Given the description of an element on the screen output the (x, y) to click on. 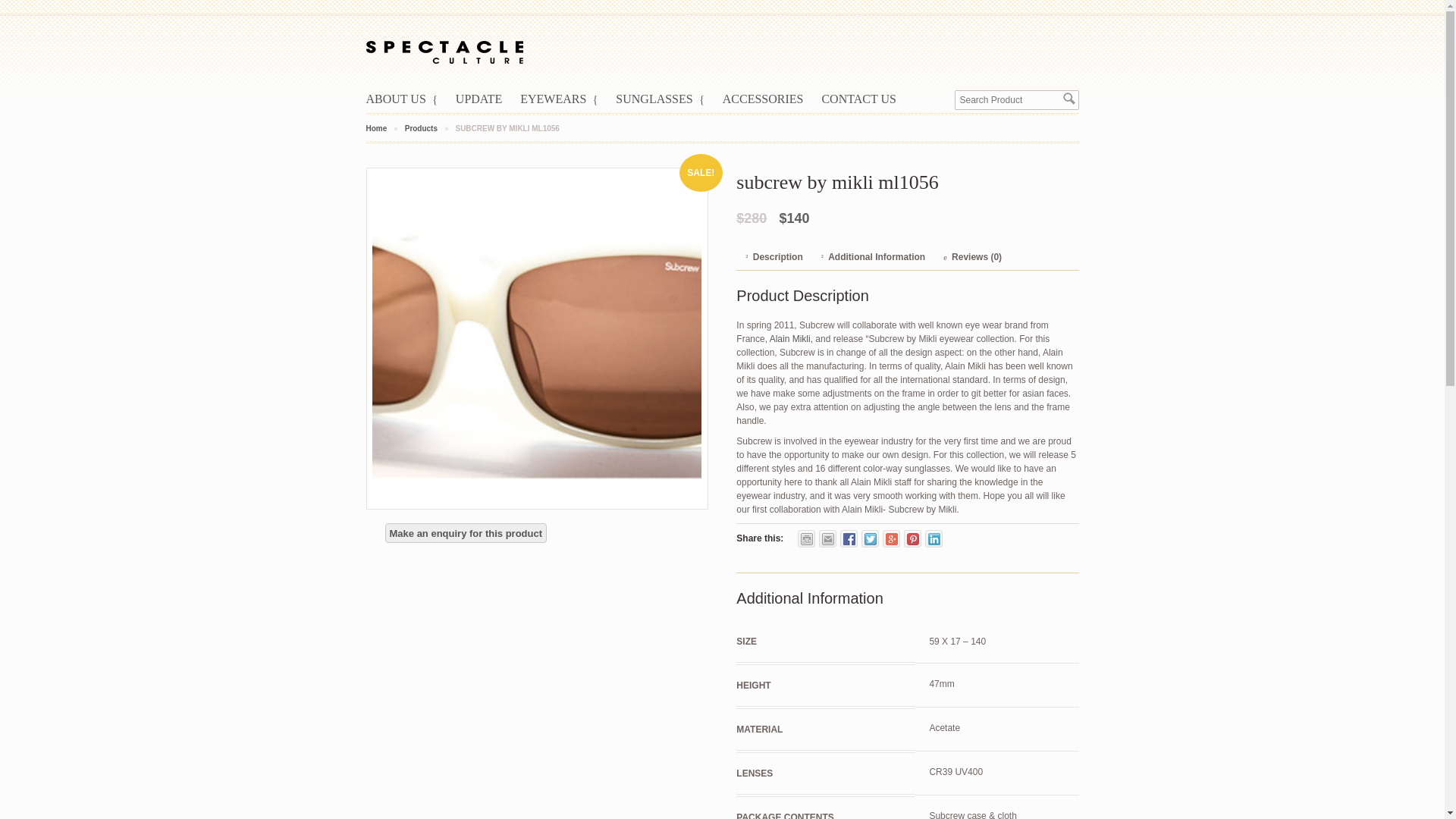
UPDATE (487, 98)
Click to share on LinkedIn (933, 538)
Make an enquiry for this product (466, 532)
Additional Information (873, 257)
Home (376, 128)
ACCESSORIES (772, 98)
Description (773, 257)
Products (421, 128)
Click to email this to a friend (826, 538)
Alain Mikli (790, 338)
Click to share on Pinterest (912, 538)
EYEWEARS (567, 99)
Click to share on Twitter (870, 538)
Products (421, 128)
Share on Facebook (848, 538)
